Given the description of an element on the screen output the (x, y) to click on. 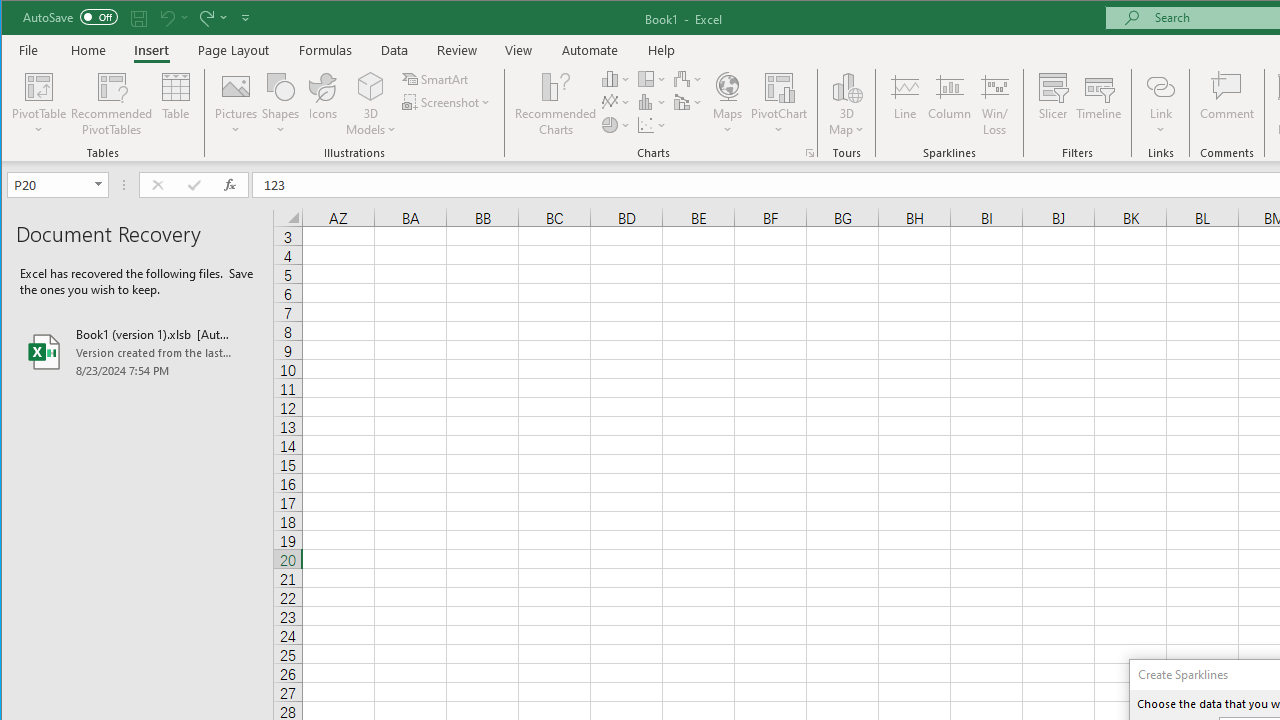
Recommended PivotTables (111, 104)
Screenshot (447, 101)
Insert Pie or Doughnut Chart (616, 124)
PivotChart (779, 86)
Icons (323, 104)
